Given the description of an element on the screen output the (x, y) to click on. 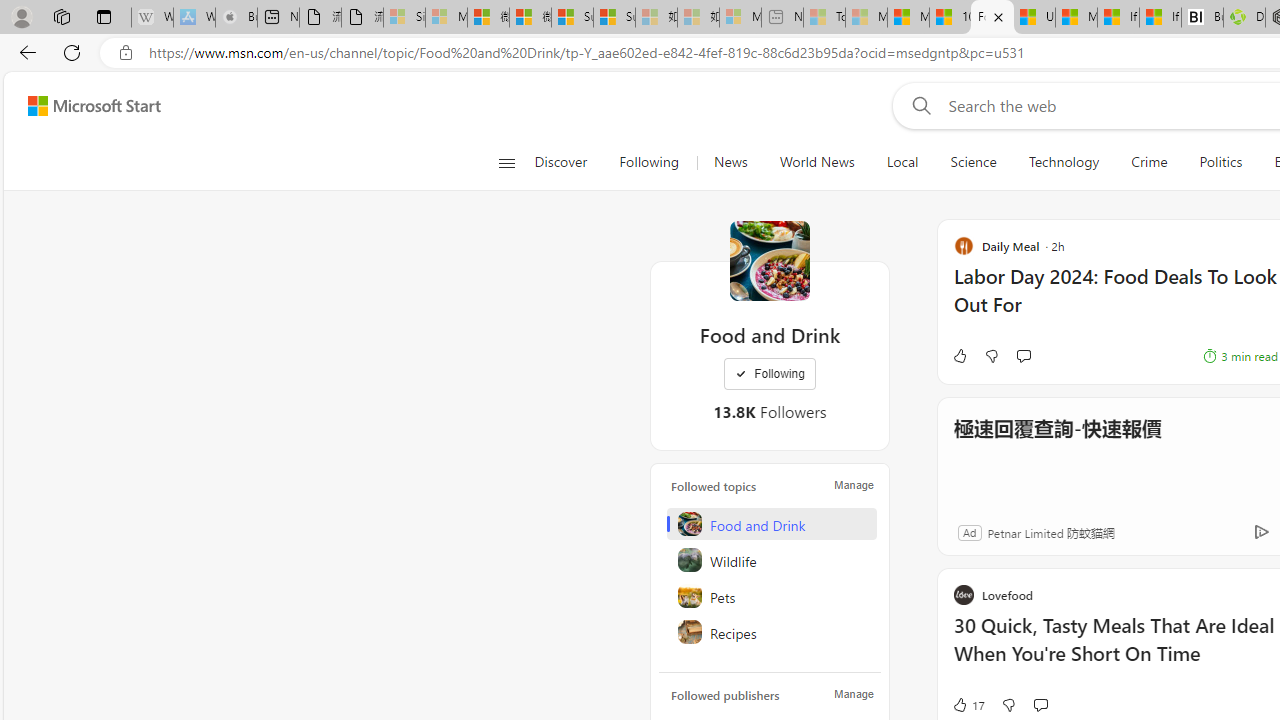
Local (902, 162)
Microsoft Services Agreement - Sleeping (446, 17)
17 Like (968, 704)
Science (973, 162)
Web search (917, 105)
Start the conversation (1040, 704)
